Given the description of an element on the screen output the (x, y) to click on. 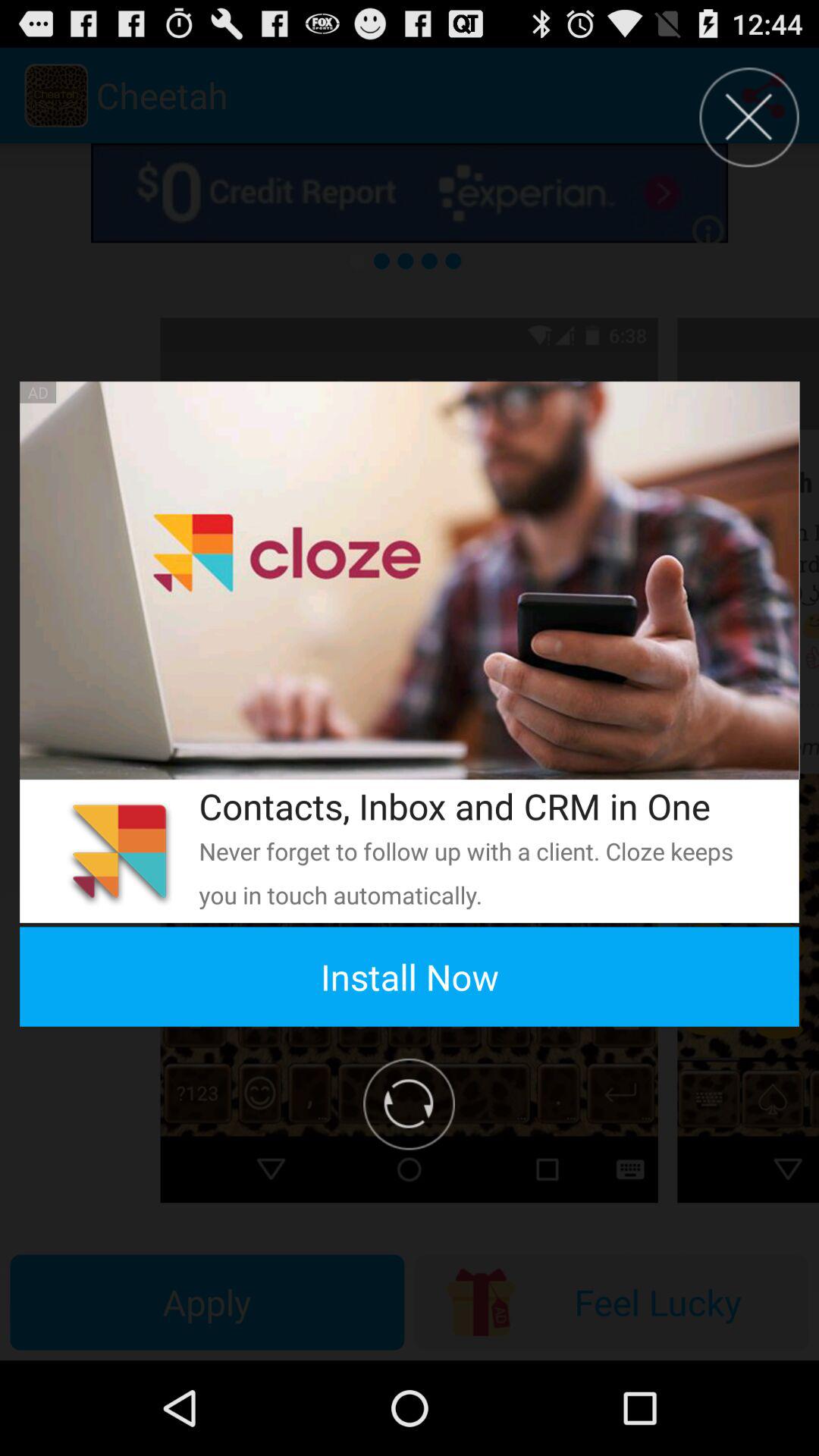
launch icon above install now item (479, 872)
